Given the description of an element on the screen output the (x, y) to click on. 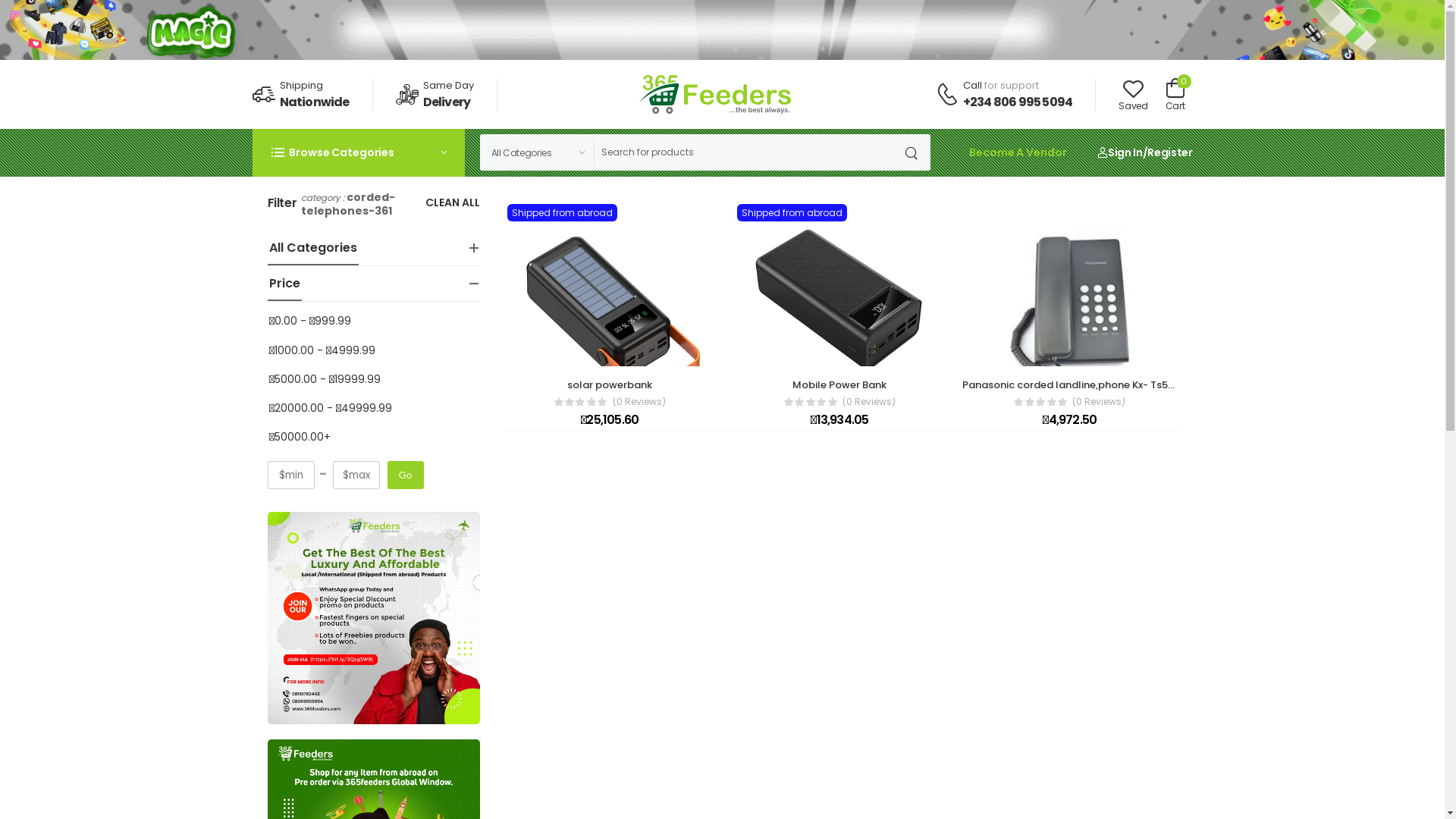
Go Element type: text (404, 475)
Same Day Element type: text (448, 85)
Call Element type: text (972, 85)
(0 Reviews) Element type: text (638, 401)
Mobile Power Bank Element type: text (839, 384)
+234 806 995 5094 Element type: text (1017, 101)
Become A Vendor Element type: text (1017, 152)
0
Cart Element type: text (1174, 94)
Saved Element type: text (1132, 94)
(0 Reviews) Element type: text (1098, 401)
solar powerbank Element type: text (609, 384)
(0 Reviews) Element type: text (868, 401)
Sign In Element type: text (1119, 152)
CLEAN ALL Element type: text (451, 203)
Panasonic corded landline,phone Kx- Ts5000mx- black Element type: text (1100, 384)
Delivery Element type: text (446, 101)
Shipping Element type: text (300, 85)
Browse Categories Element type: text (357, 151)
Nationwide Element type: text (313, 101)
Register Element type: text (1169, 152)
